Given the description of an element on the screen output the (x, y) to click on. 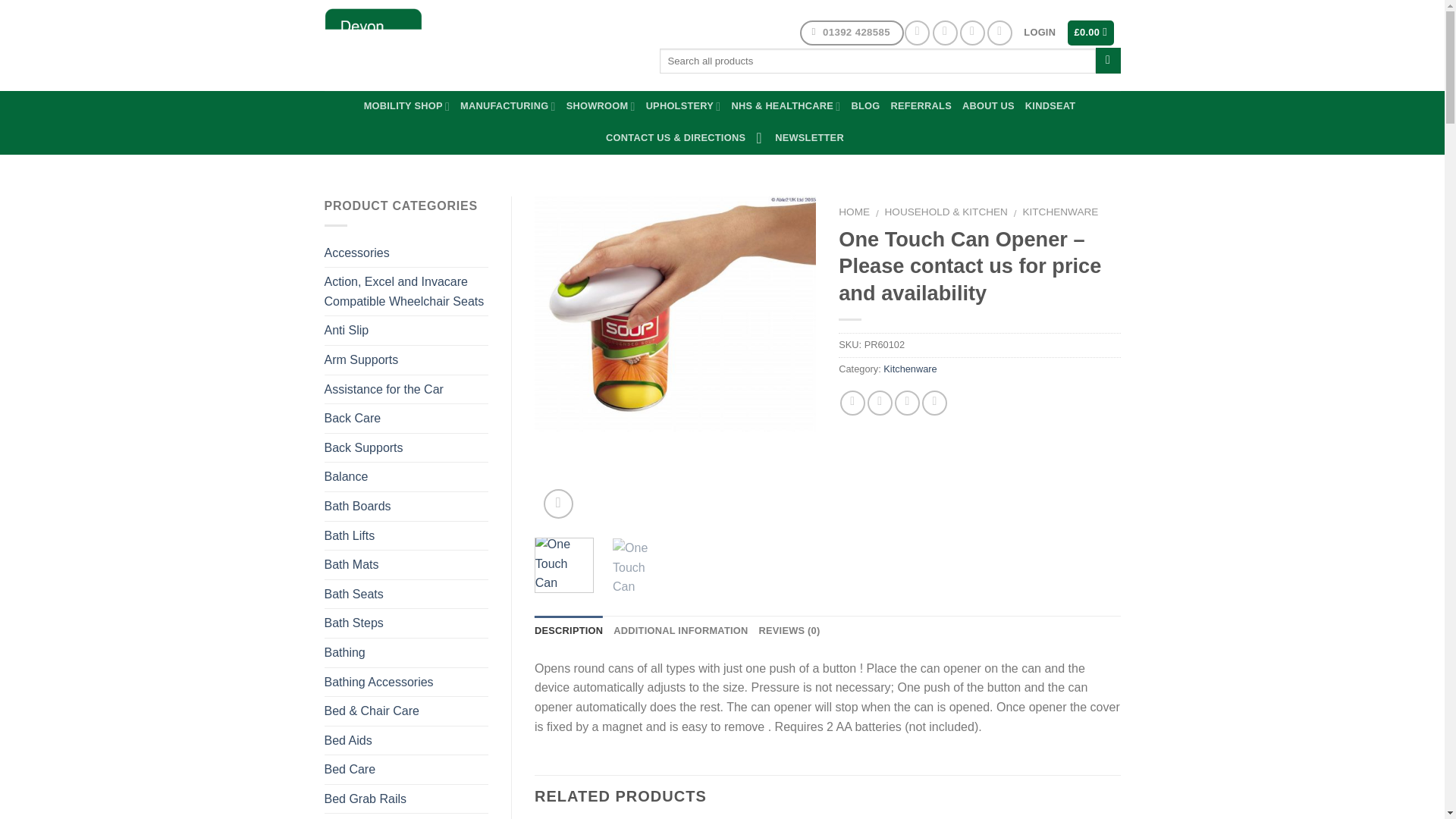
Zoom (558, 503)
Cart (1090, 32)
Newsletter Signup (799, 137)
Follow on LinkedIn (999, 32)
Follow on Instagram (945, 32)
Follow on Twitter (972, 32)
One Touch Can Opener 2 (956, 361)
Contact us today (851, 32)
01392 428585 (851, 32)
Share on Facebook (852, 402)
One Touch Can Opener 1 (674, 314)
MANUFACTURING (508, 105)
LOGIN (1039, 32)
One Touch Can Opener 2 (640, 567)
